Given the description of an element on the screen output the (x, y) to click on. 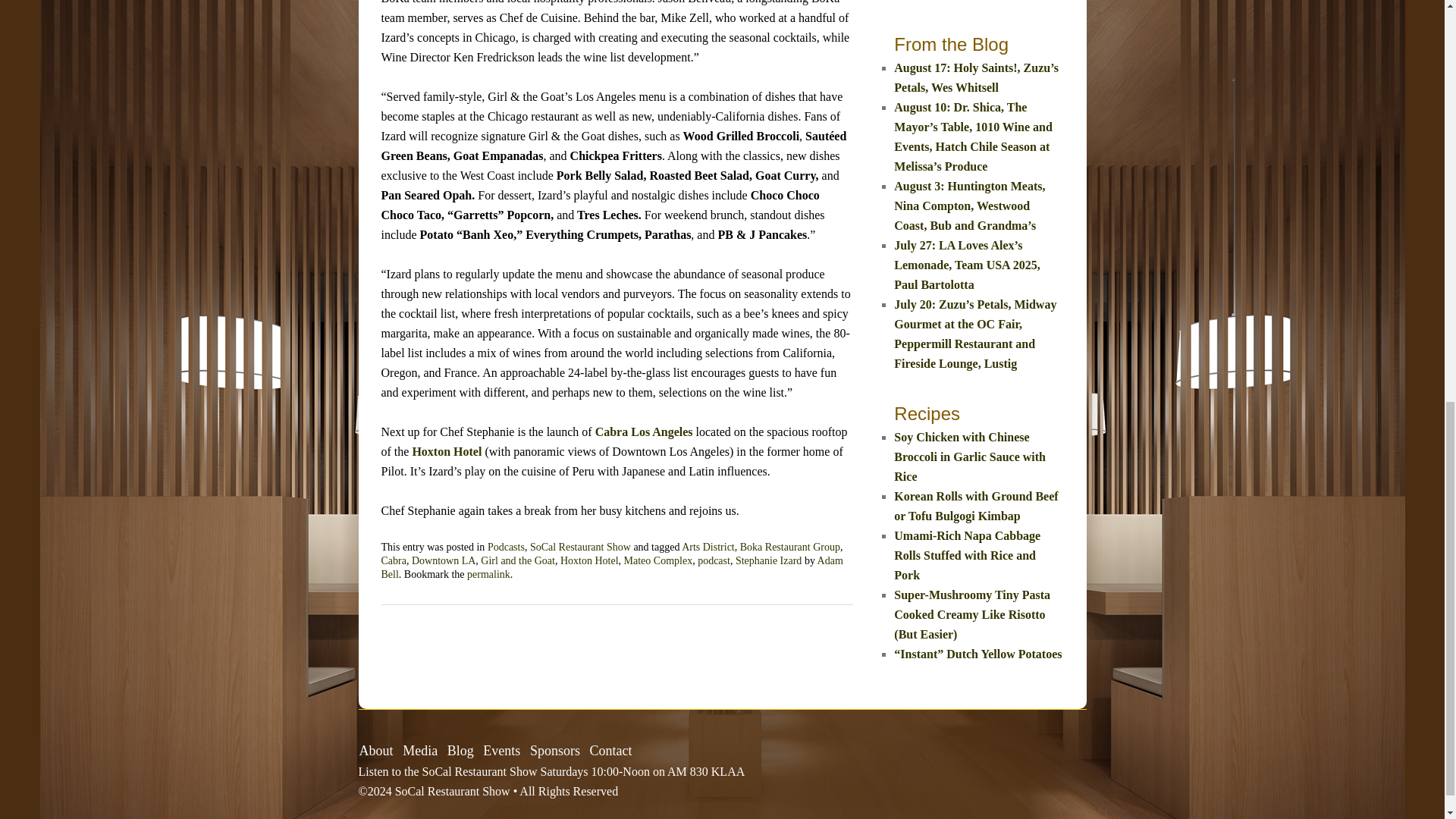
Podcasts (505, 546)
Hoxton Hotel (446, 451)
Cabra Los Angeles (644, 431)
Cabra (393, 560)
Boka Restaurant Group (789, 546)
Arts District (708, 546)
SoCal Restaurant Show (579, 546)
